Given the description of an element on the screen output the (x, y) to click on. 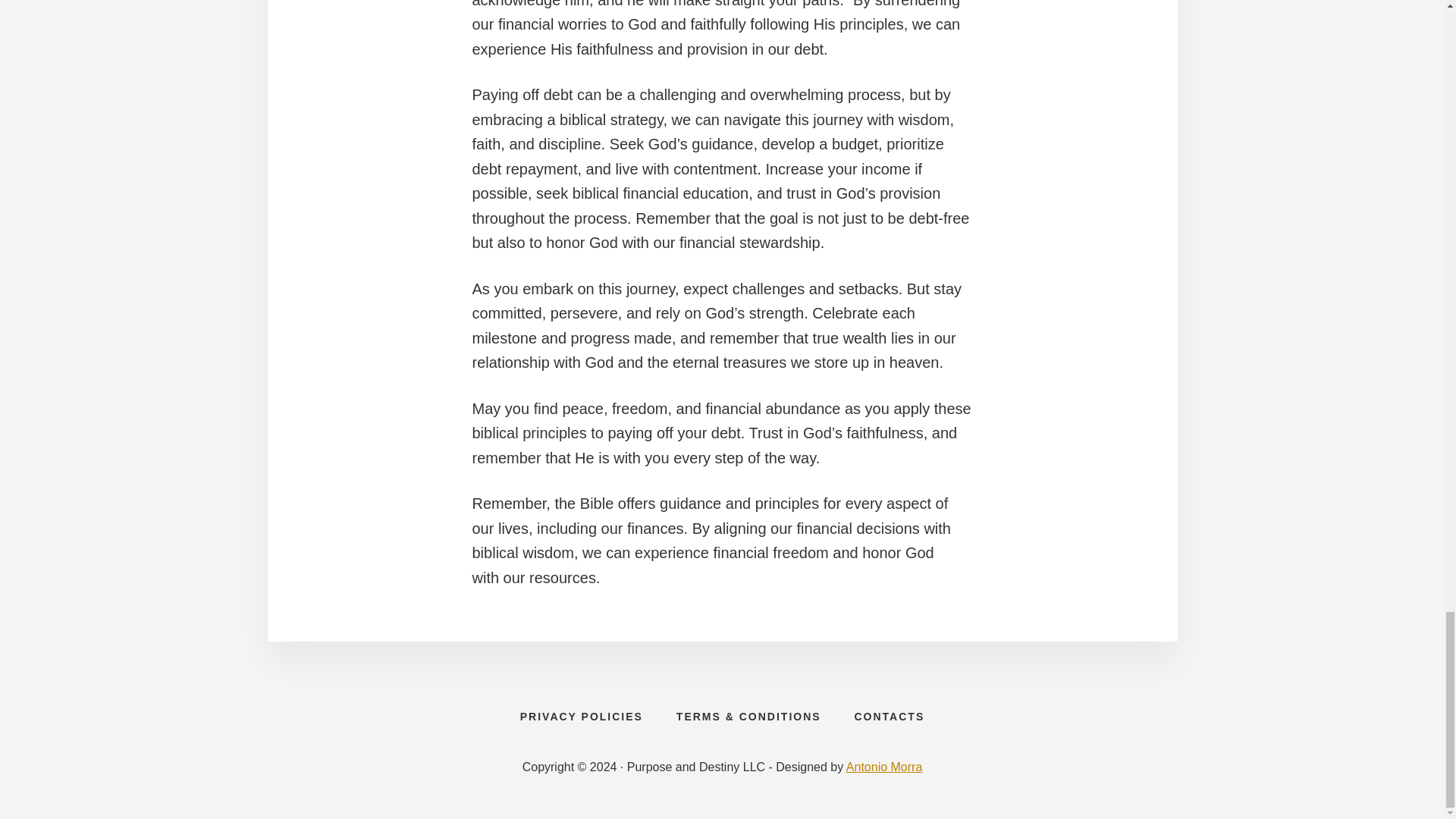
CONTACTS (888, 716)
PRIVACY POLICIES (581, 716)
Antonio Morra (884, 766)
